Given the description of an element on the screen output the (x, y) to click on. 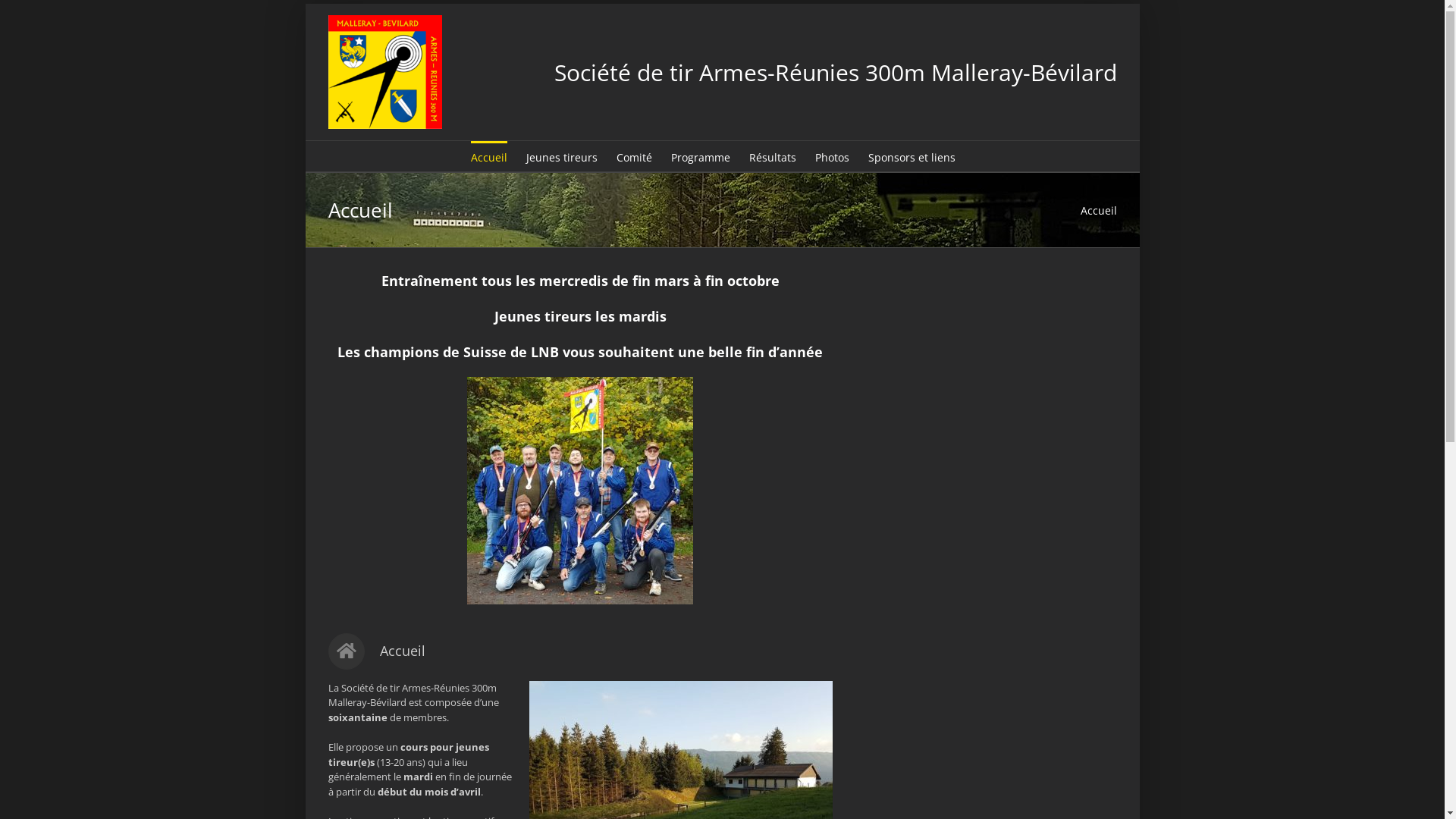
Sponsors et liens Element type: text (910, 156)
Accueil Element type: text (1097, 210)
Photos Element type: text (831, 156)
Accueil Element type: text (488, 156)
Programme Element type: text (699, 156)
Jeunes tireurs Element type: text (561, 156)
